Given the description of an element on the screen output the (x, y) to click on. 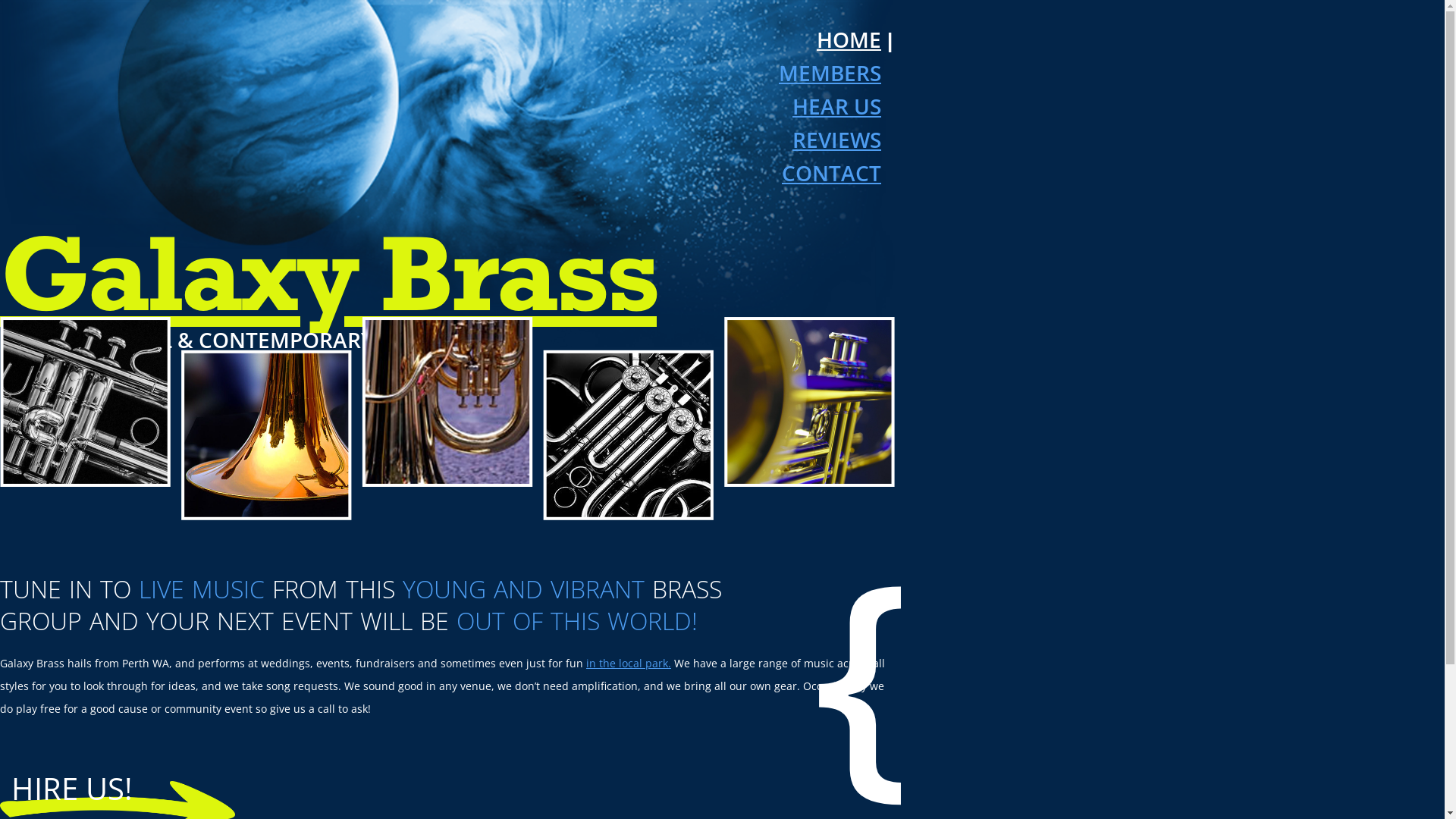
HEAR US Element type: text (843, 105)
Galaxy Brass Element type: text (328, 271)
REVIEWS Element type: text (843, 139)
CONTACT Element type: text (837, 172)
in the local park. Element type: text (628, 662)
MEMBERS Element type: text (836, 72)
HOME Element type: text (848, 39)
